Given the description of an element on the screen output the (x, y) to click on. 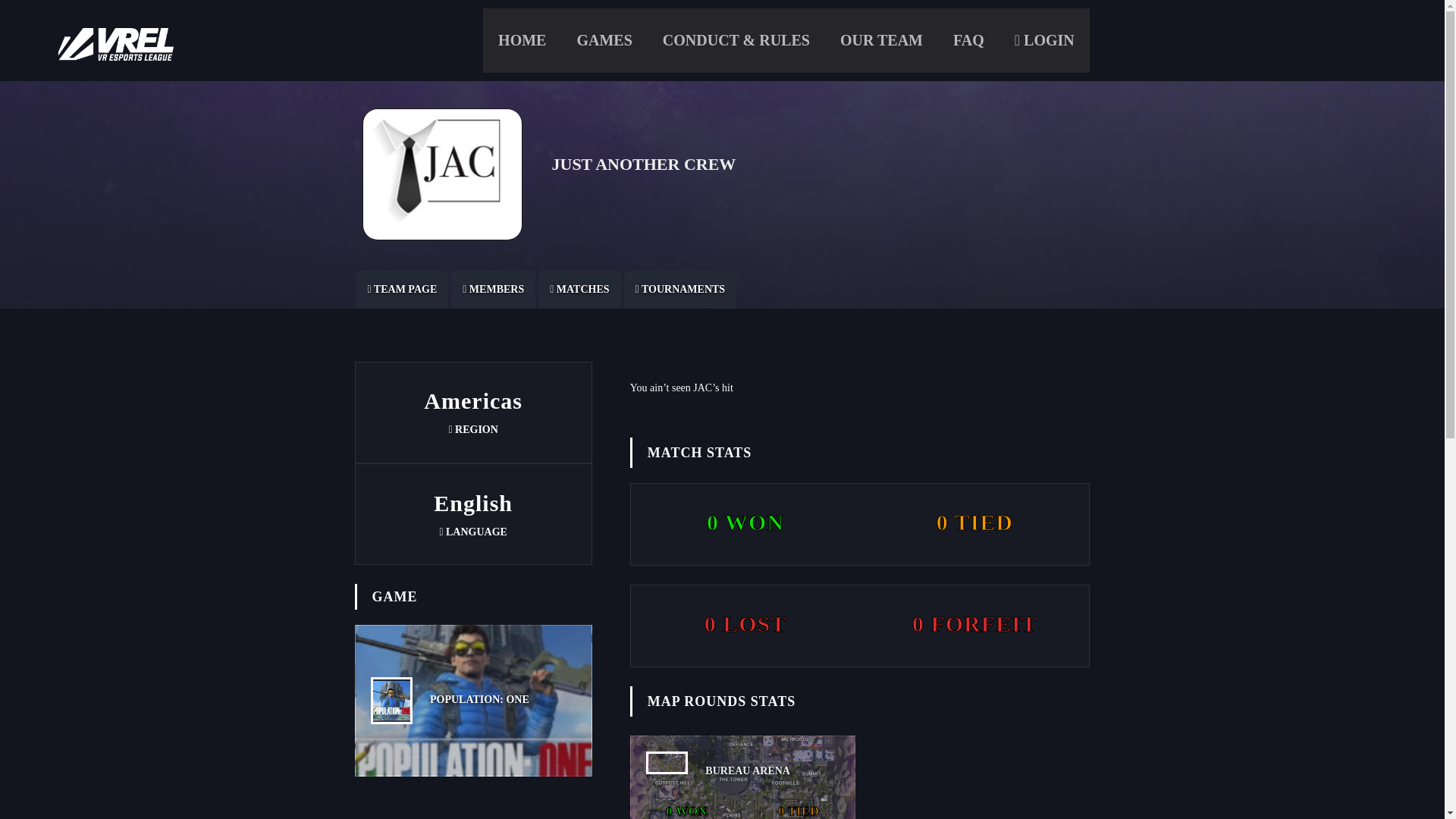
 TEAM PAGE (402, 289)
HOME (521, 40)
FAQ (967, 40)
LOGIN (1043, 40)
MEMBERS (493, 289)
TOURNAMENTS (680, 289)
OUR TEAM (881, 40)
POPULATION: ONE (473, 700)
GAMES (603, 40)
MATCHES (579, 289)
